Given the description of an element on the screen output the (x, y) to click on. 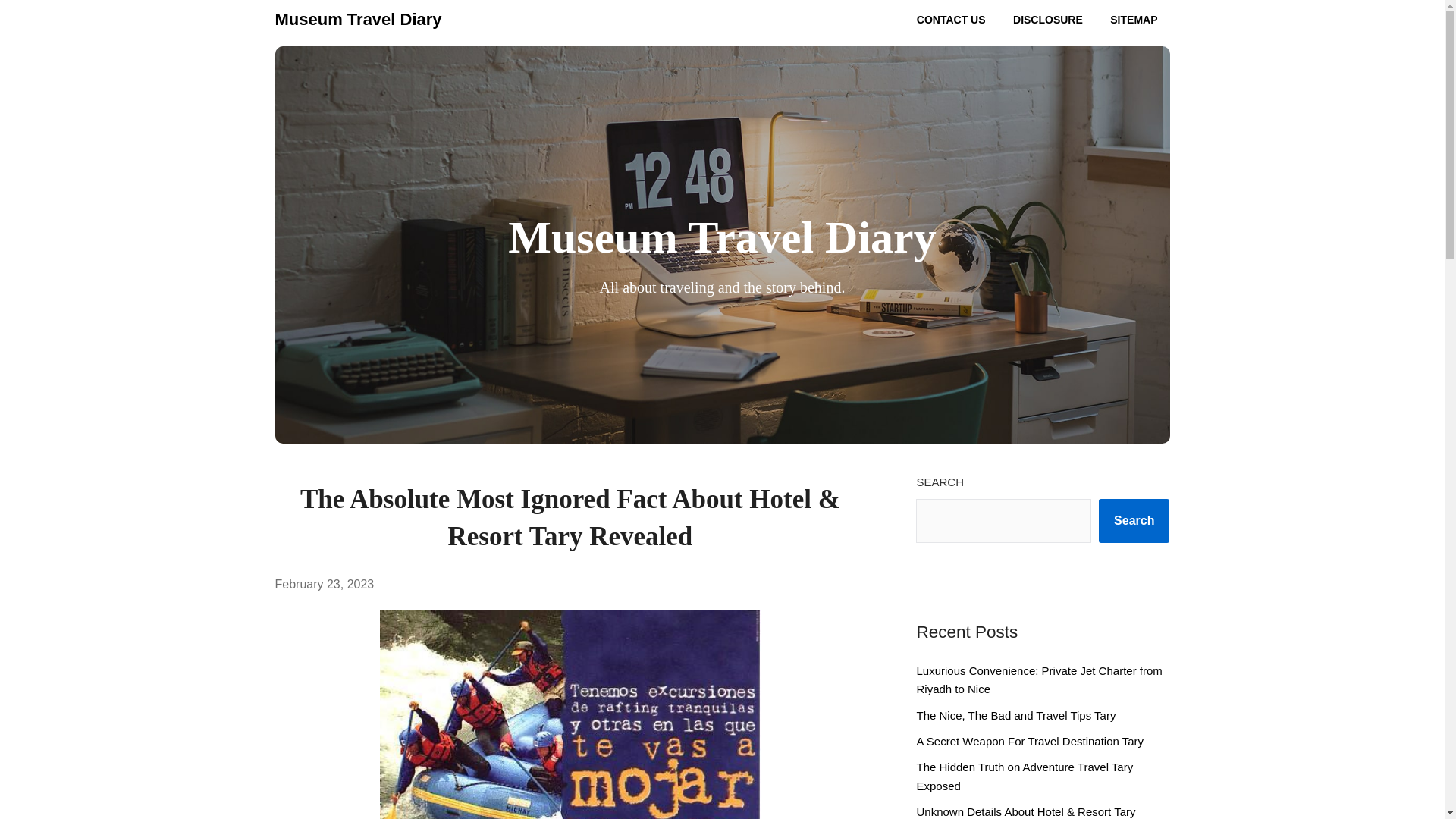
Museum Travel Diary (358, 19)
February 23, 2023 (324, 584)
DISCLOSURE (1047, 20)
A Secret Weapon For Travel Destination Tary (1028, 740)
The Nice, The Bad and Travel Tips Tary (1015, 715)
SITEMAP (1133, 20)
Search (1134, 520)
The Hidden Truth on Adventure Travel Tary Exposed (1023, 775)
CONTACT US (950, 20)
